Given the description of an element on the screen output the (x, y) to click on. 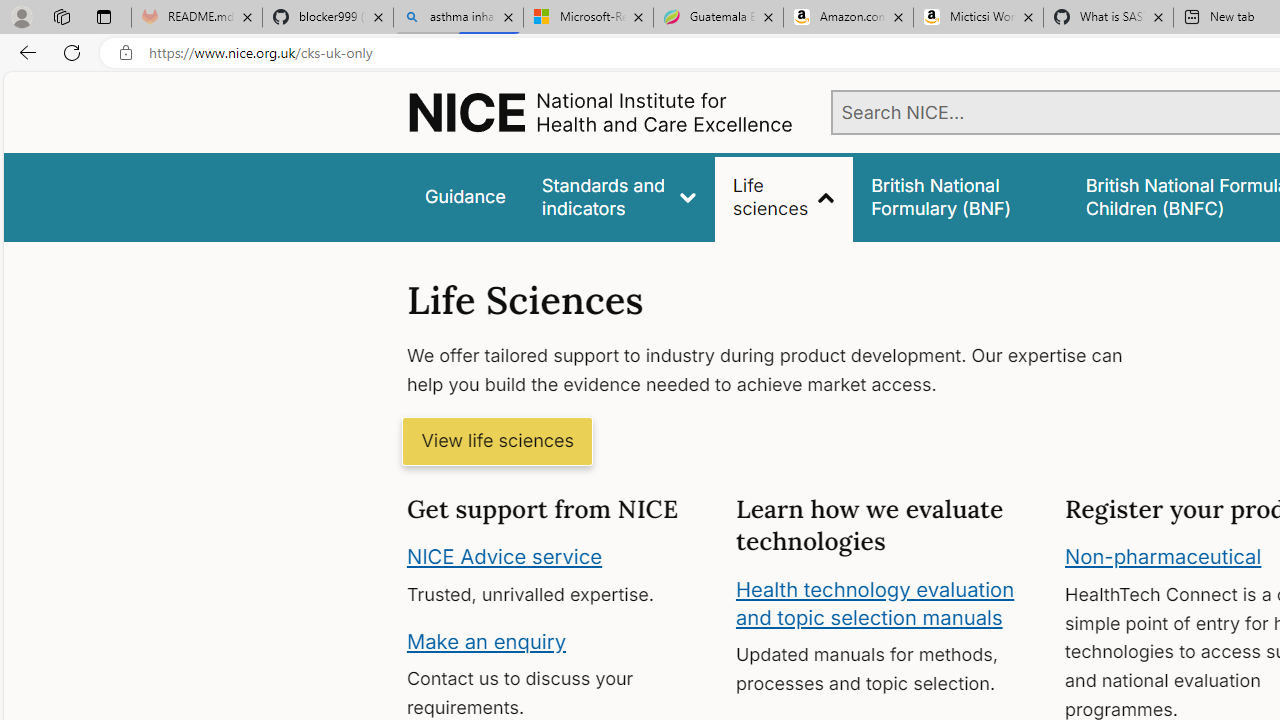
Non-pharmaceutical (1163, 557)
Guidance (464, 196)
Make an enquiry (486, 640)
View life sciences (497, 441)
Guidance (464, 196)
